Given the description of an element on the screen output the (x, y) to click on. 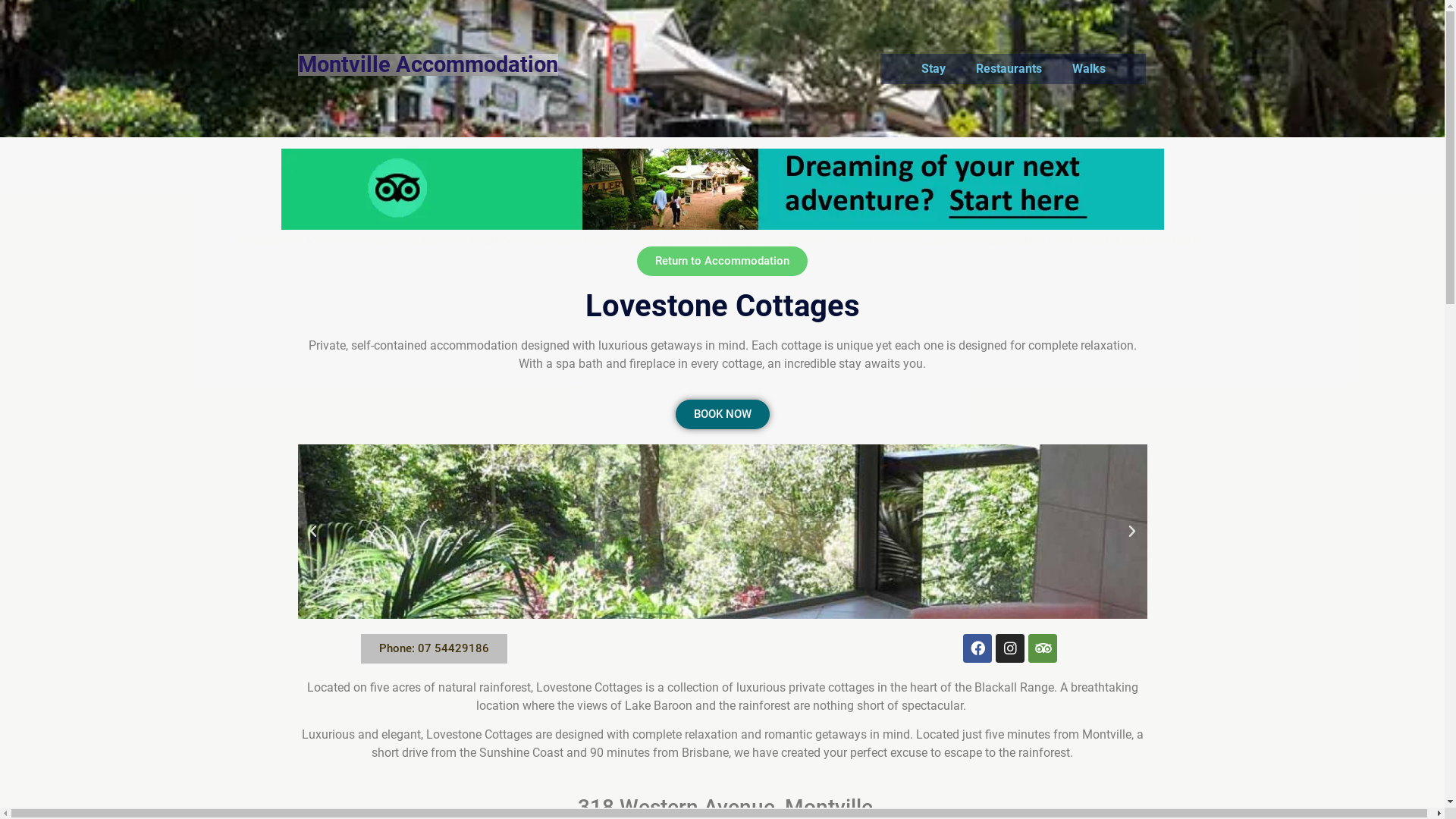
Return to Accommodation Element type: text (722, 261)
Montville Accommodation Element type: text (427, 64)
Stay Element type: text (933, 68)
Phone: 07 54429186 Element type: text (433, 648)
Walks Element type: text (1088, 68)
BOOK NOW Element type: text (721, 414)
Restaurants Element type: text (1008, 68)
